Given the description of an element on the screen output the (x, y) to click on. 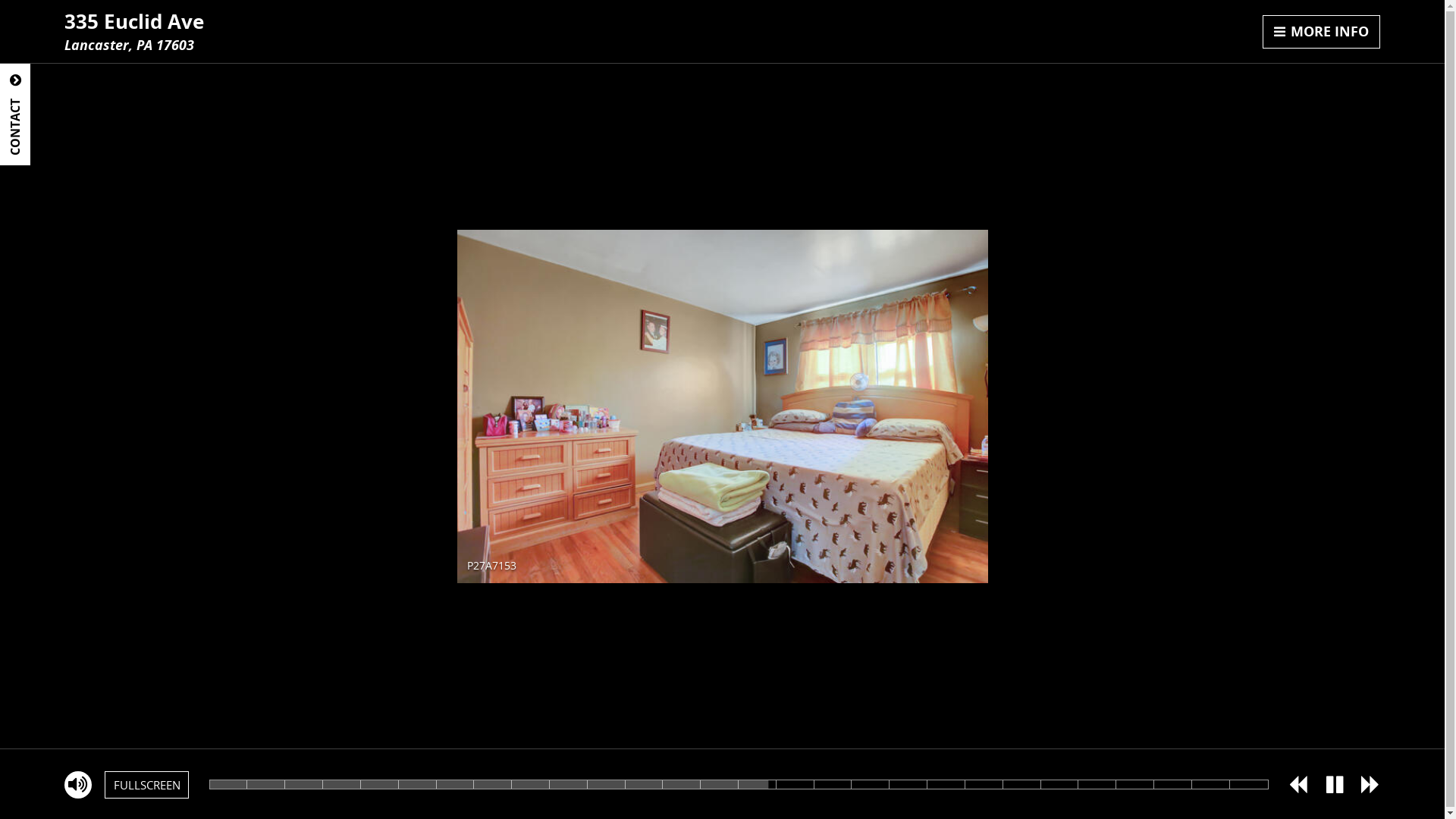
MORE INFO Element type: text (1321, 31)
